Given the description of an element on the screen output the (x, y) to click on. 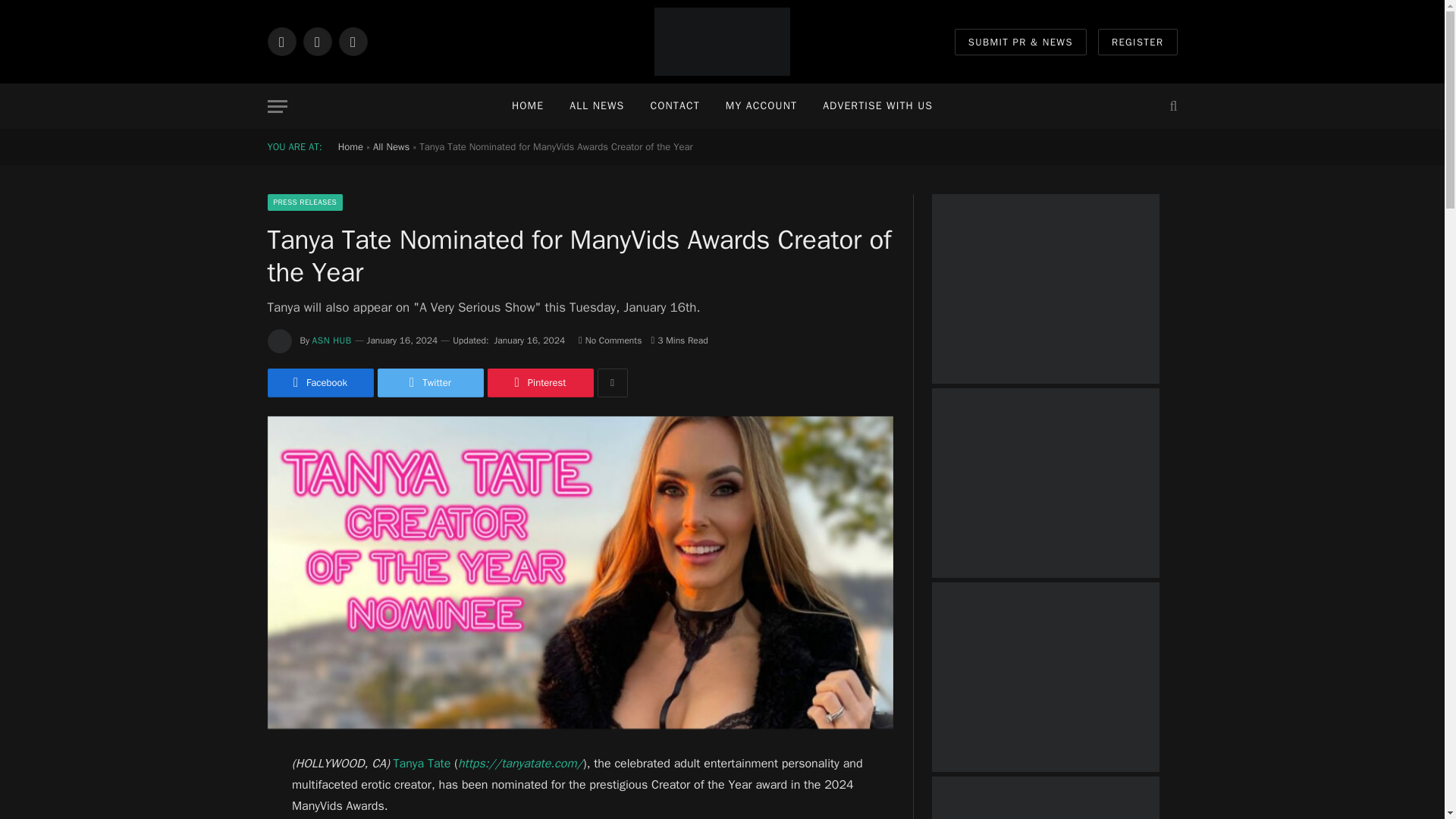
Facebook (319, 382)
Show More Social Sharing (611, 382)
ASNHub (722, 41)
HOME (527, 105)
Facebook (280, 41)
Instagram (351, 41)
No Comments (610, 340)
REGISTER (1137, 41)
Share on Facebook (319, 382)
CONTACT (674, 105)
ASN HUB (332, 340)
Twitter (430, 382)
ALL NEWS (596, 105)
MY ACCOUNT (761, 105)
Share on Pinterest (539, 382)
